Given the description of an element on the screen output the (x, y) to click on. 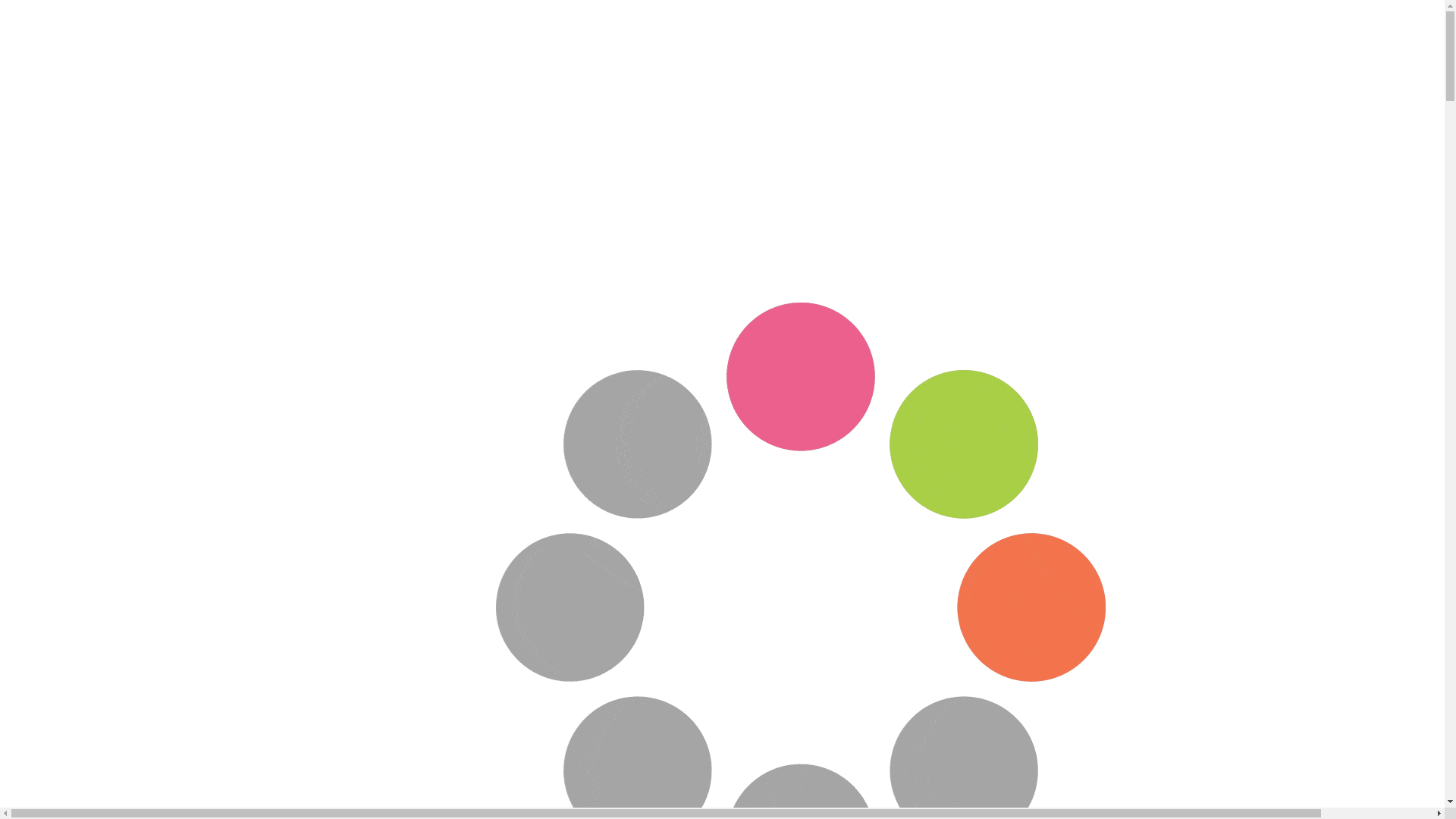
Skip to content Element type: text (5, 5)
